Given the description of an element on the screen output the (x, y) to click on. 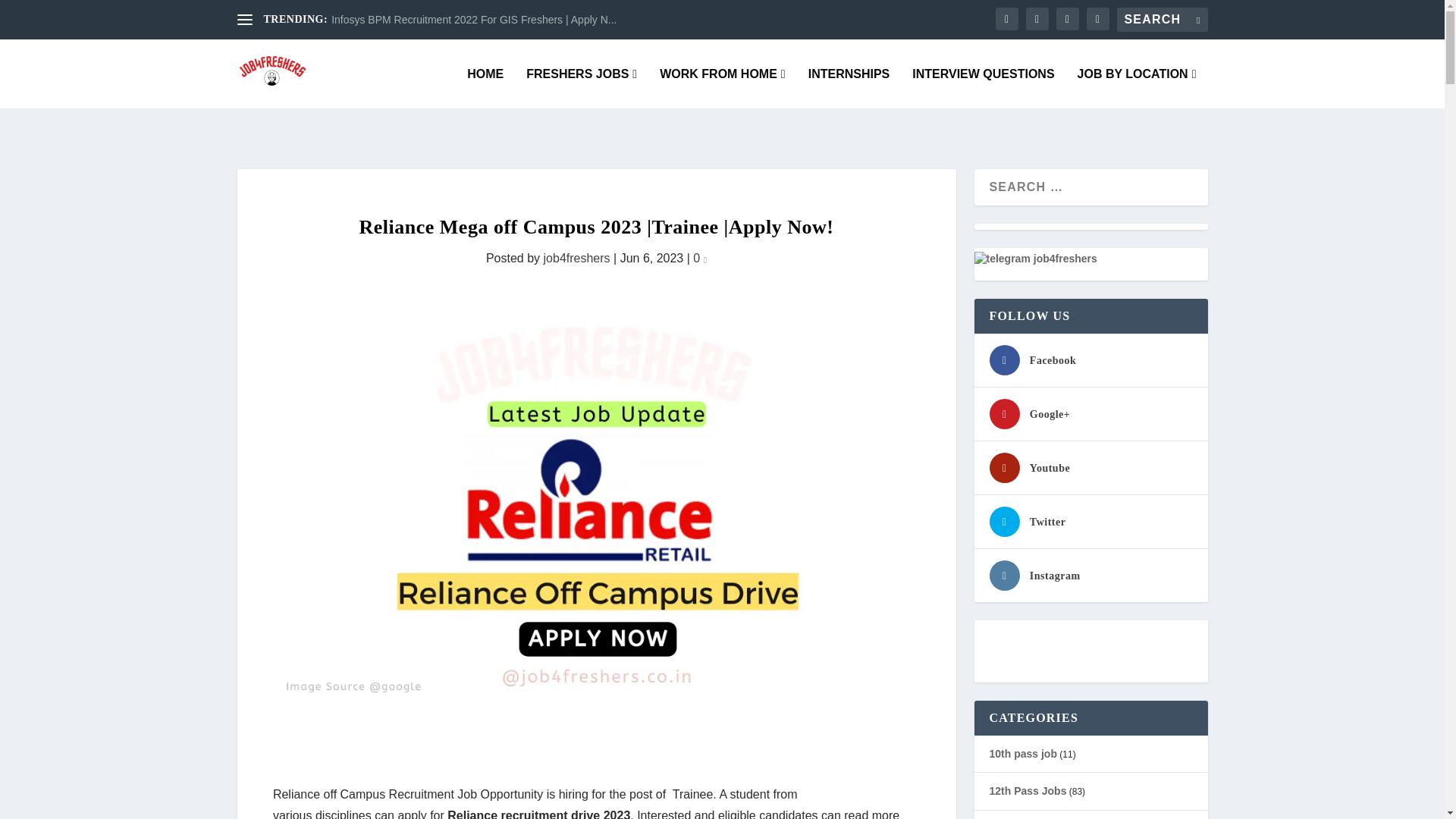
Posts by job4freshers (576, 257)
INTERNSHIPS (848, 87)
INTERVIEW QUESTIONS (983, 87)
WORK FROM HOME (722, 87)
Search for: (1161, 19)
JOB BY LOCATION (1136, 87)
HOME (485, 87)
FRESHERS JOBS (581, 87)
